Given the description of an element on the screen output the (x, y) to click on. 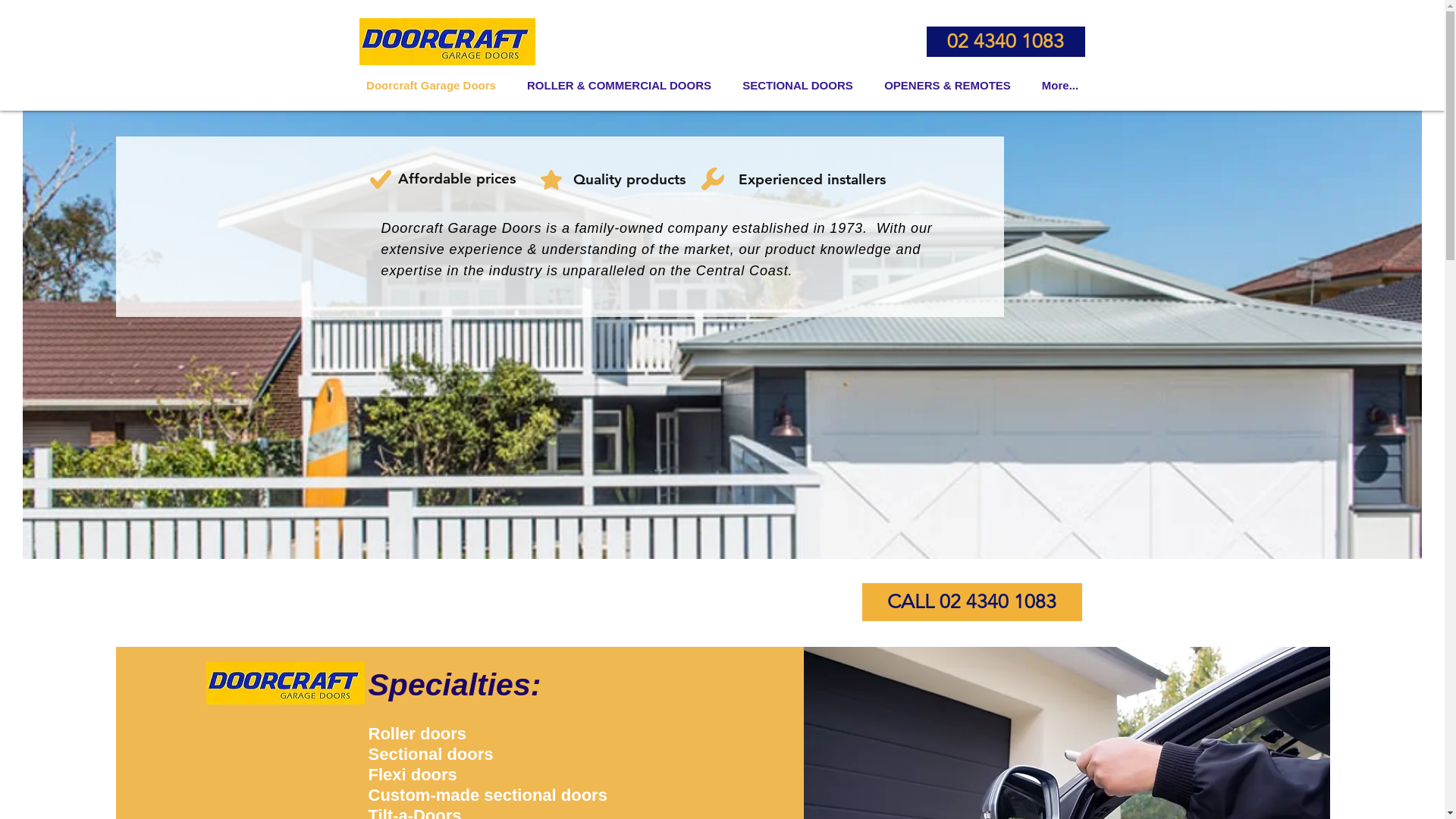
SECTIONAL DOORS Element type: text (797, 85)
Doorcraft Garage Doors Element type: text (430, 85)
ROLLER & COMMERCIAL DOORS Element type: text (618, 85)
OPENERS & REMOTES Element type: text (947, 85)
